Given the description of an element on the screen output the (x, y) to click on. 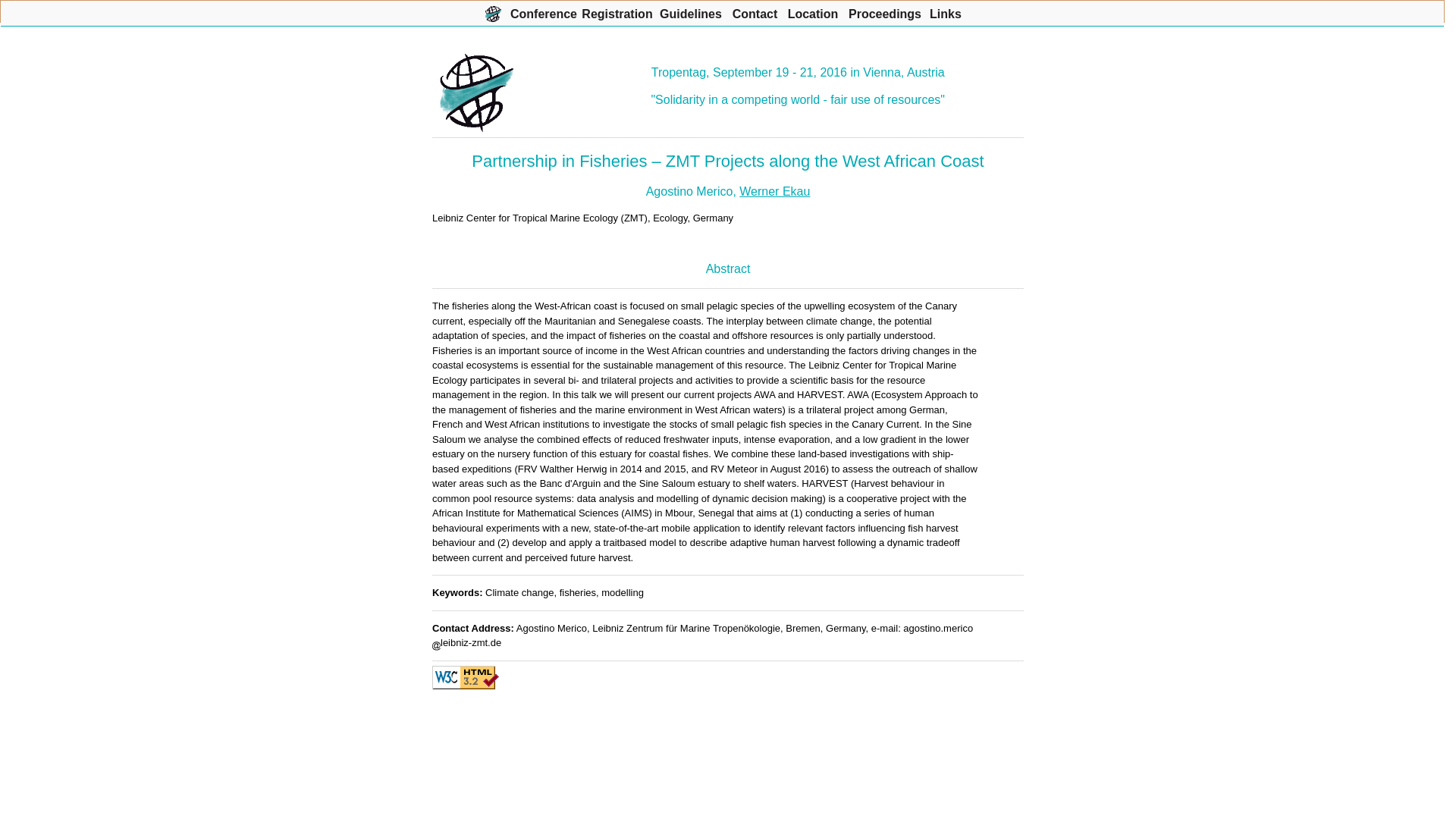
Conference (542, 11)
Contact (754, 11)
Registration (616, 11)
Guidelines (689, 11)
Tropentag 2024 (493, 11)
Location (813, 11)
Links (944, 11)
Proceedings (885, 11)
